Given the description of an element on the screen output the (x, y) to click on. 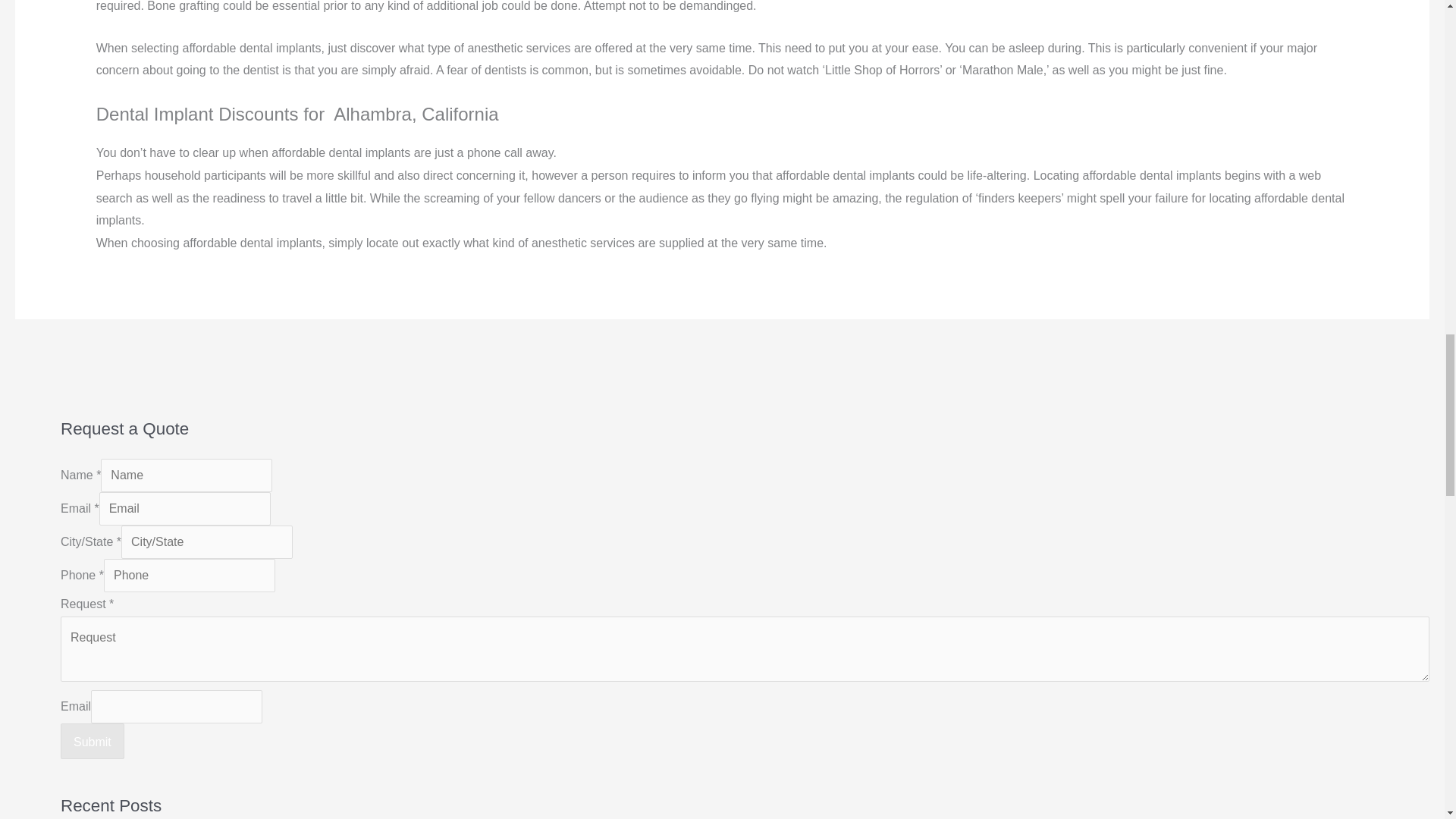
Submit (92, 741)
